Given the description of an element on the screen output the (x, y) to click on. 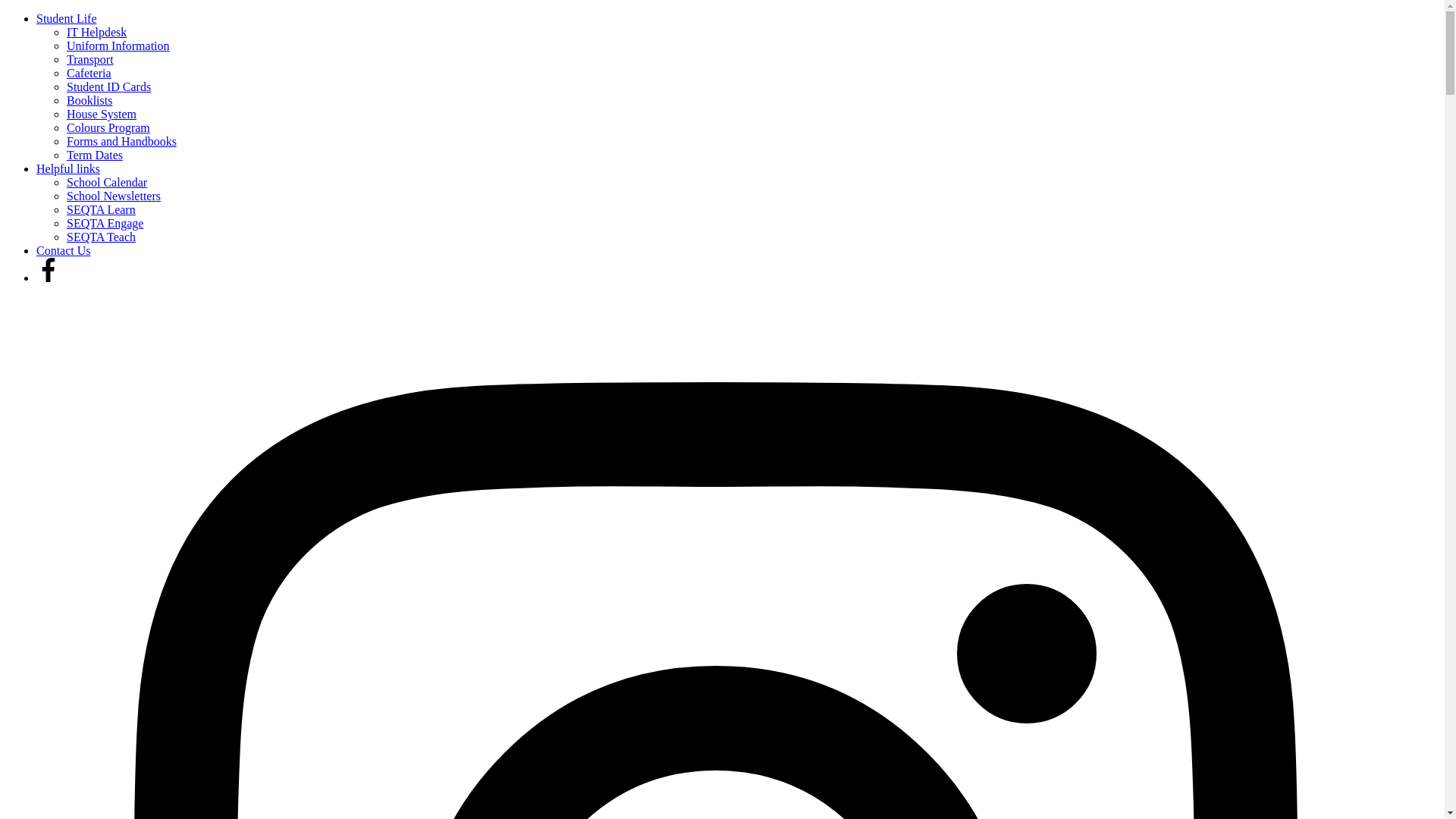
Uniform Information (118, 45)
Booklists (89, 100)
Helpful links (68, 168)
School Calendar (106, 182)
Forms and Handbooks (121, 141)
IT Helpdesk (96, 31)
facebook-f (48, 269)
Term Dates (94, 154)
Cafeteria (89, 72)
facebook-f (48, 277)
